Given the description of an element on the screen output the (x, y) to click on. 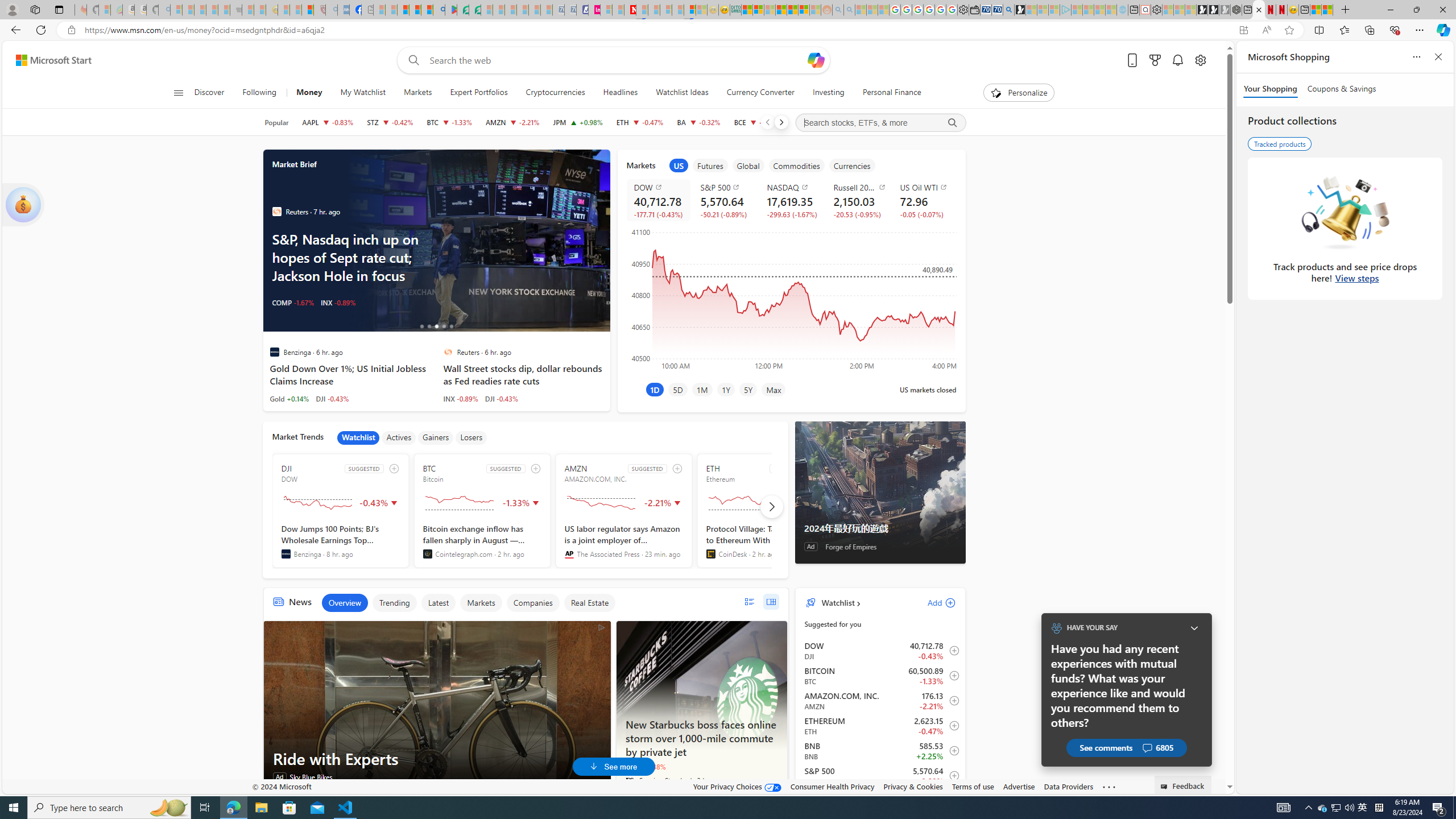
My Watchlist (362, 92)
1M (701, 389)
Terms of use (973, 785)
Money (308, 92)
1D (654, 389)
Combat Siege (236, 9)
Class: feedback_link_icon-DS-EntryPoint1-1 (1165, 786)
Bing Real Estate - Home sales and rental listings (1008, 9)
Actives (398, 437)
